Given the description of an element on the screen output the (x, y) to click on. 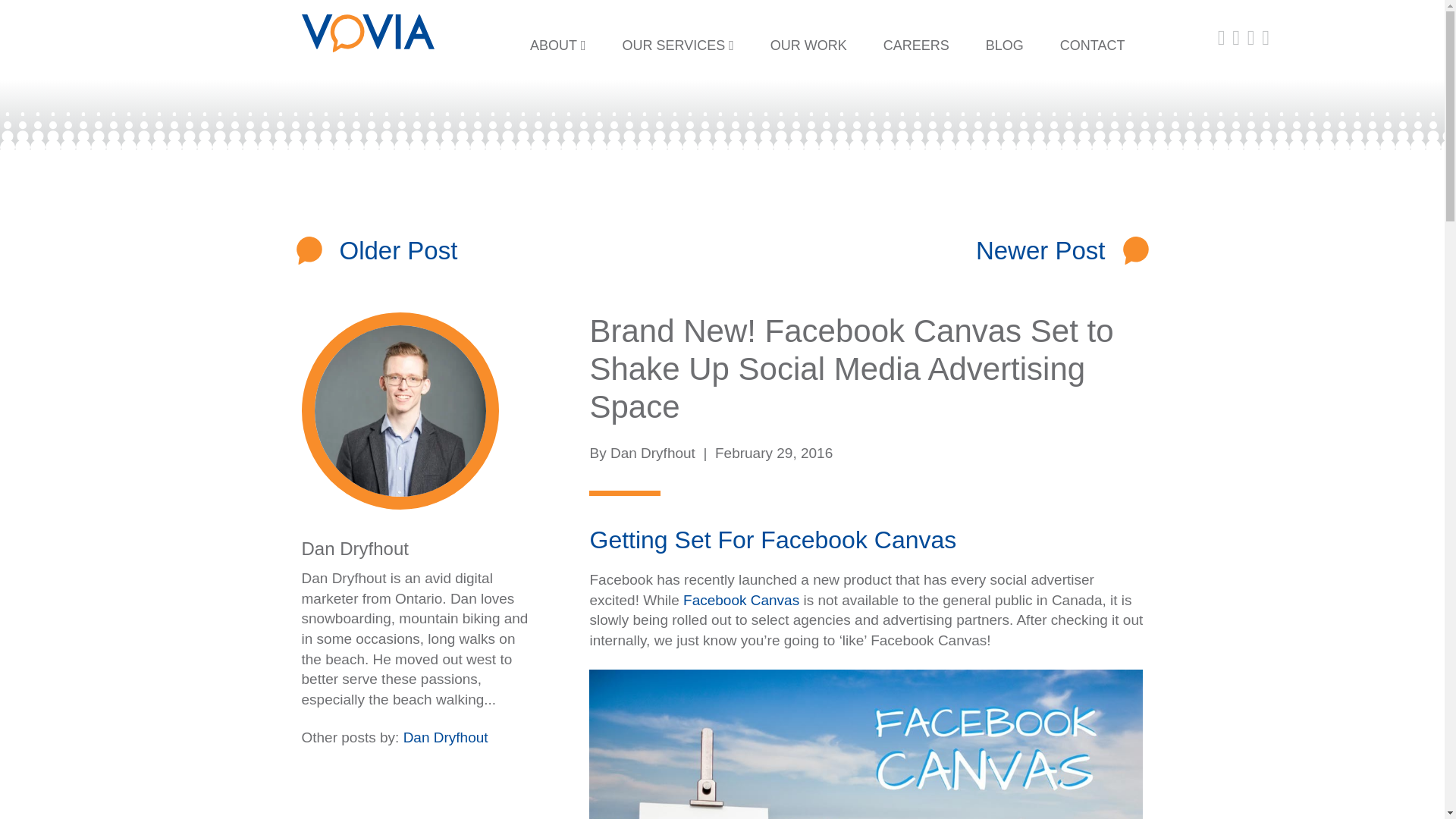
Posts by Dan Dryfhout (355, 548)
OUR WORK (808, 45)
BLOG (1005, 45)
Posts by Dan Dryfhout (652, 453)
OUR SERVICES (677, 45)
Posts by Dan Dryfhout (445, 737)
CAREERS (916, 45)
ABOUT (558, 45)
Older Post (398, 250)
CONTACT (1092, 45)
